Given the description of an element on the screen output the (x, y) to click on. 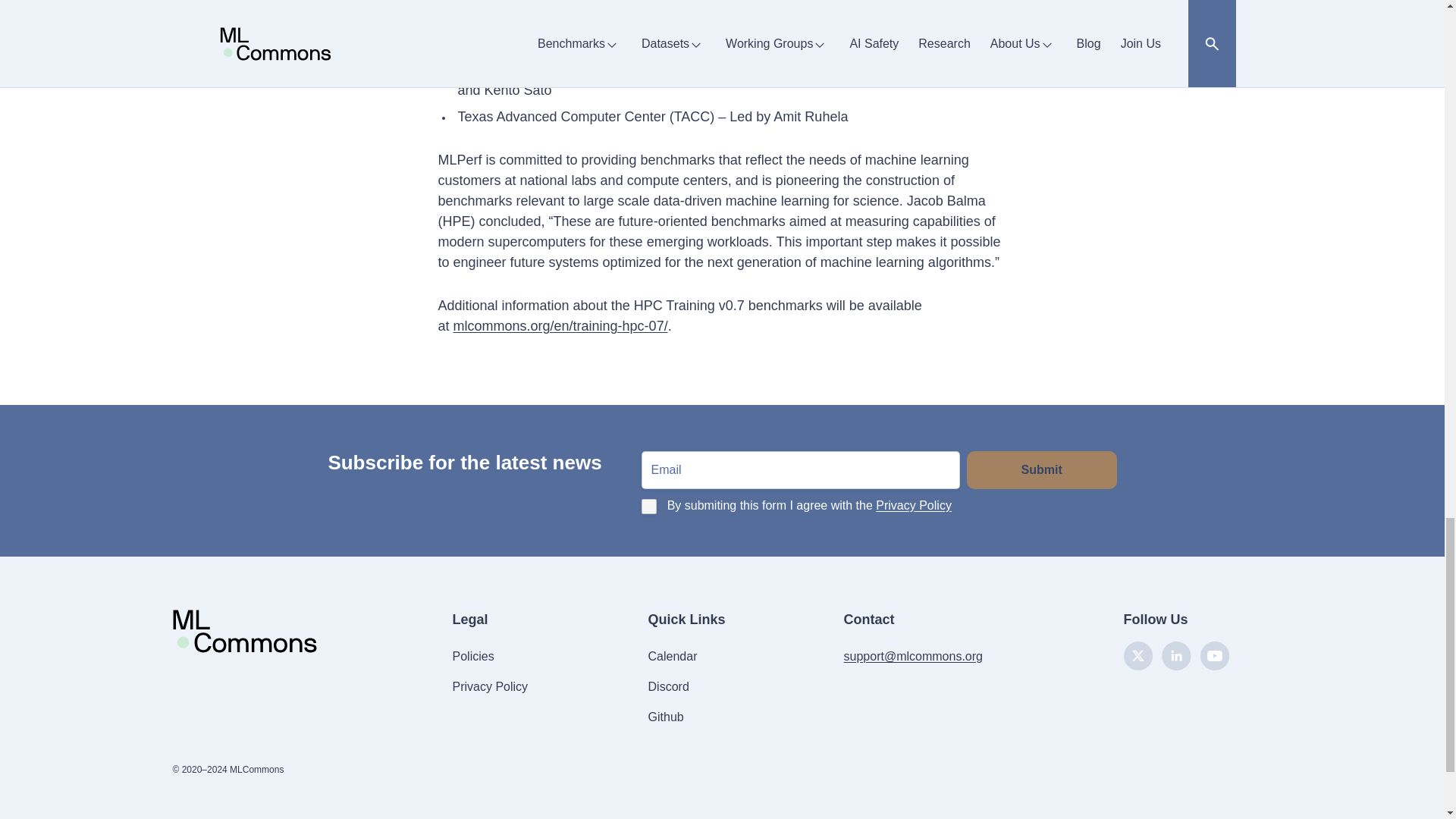
1 (649, 506)
Submit (1041, 469)
